Given the description of an element on the screen output the (x, y) to click on. 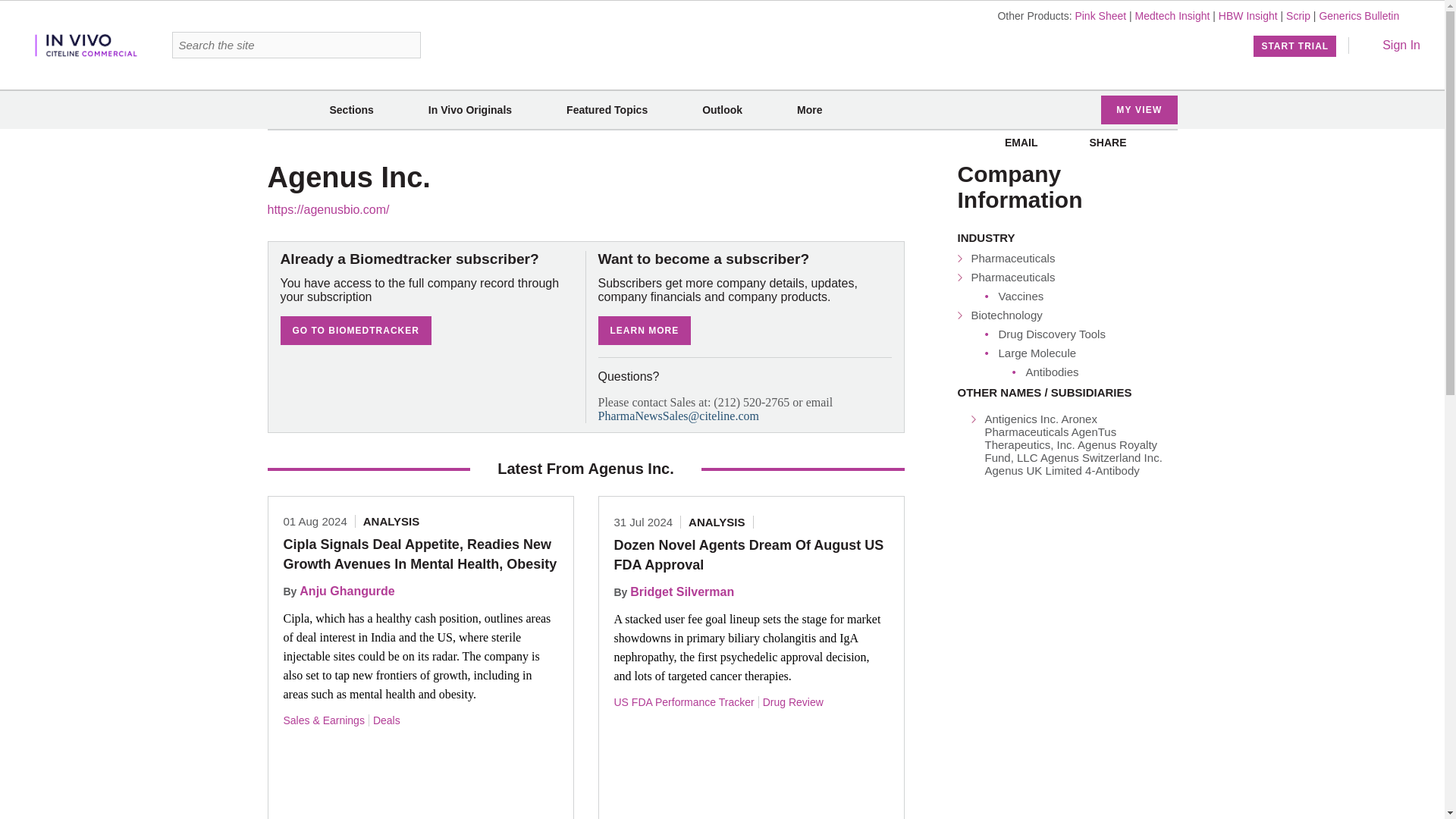
Outlook (721, 110)
Sign In (1391, 44)
Scrip (1297, 15)
Generics Bulletin (1359, 15)
START TRIAL (1294, 46)
Pink Sheet (1099, 15)
Medtech Insight (1172, 15)
HBW Insight (1248, 15)
